Given the description of an element on the screen output the (x, y) to click on. 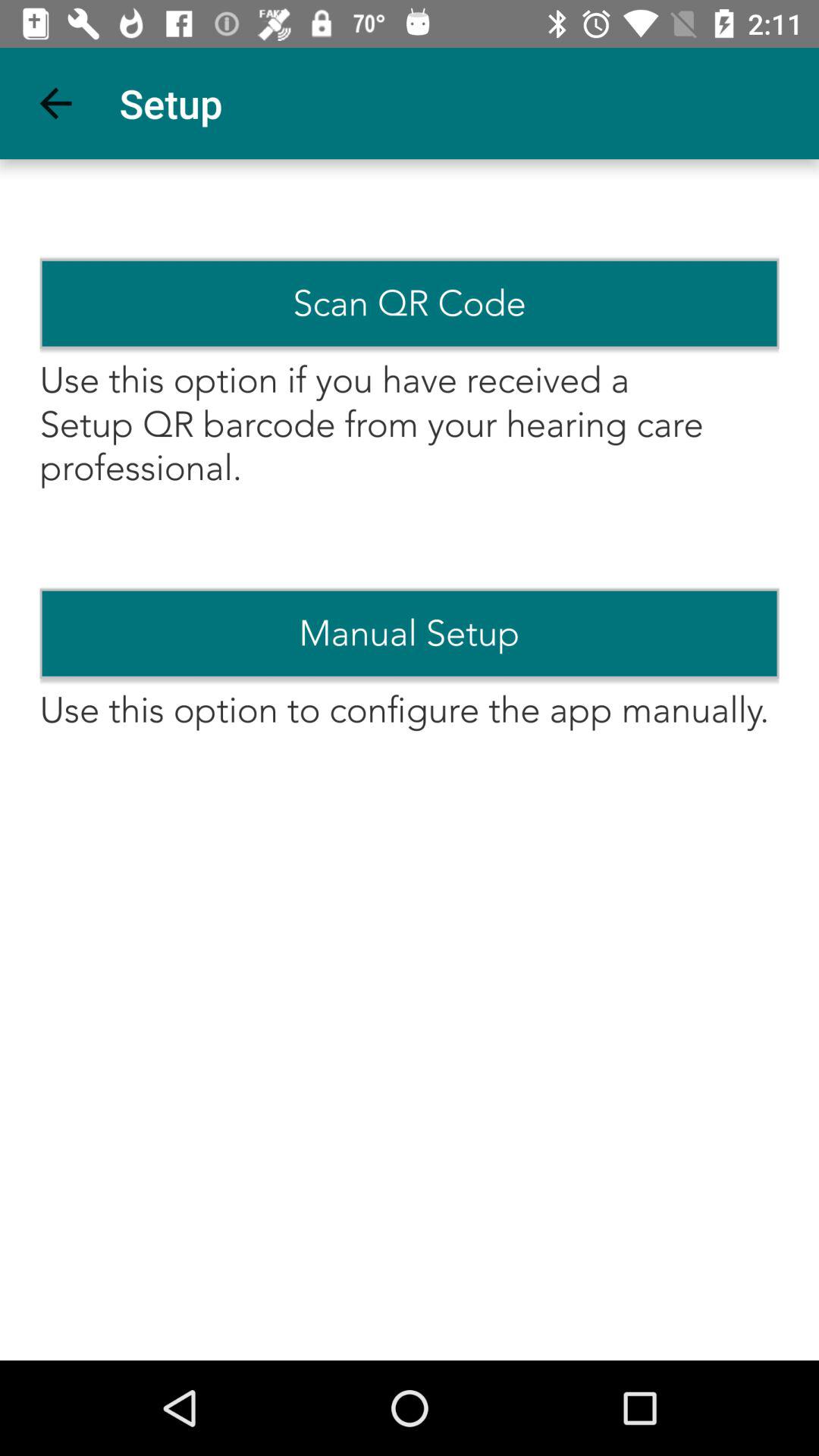
launch item above the scan qr code (55, 103)
